Given the description of an element on the screen output the (x, y) to click on. 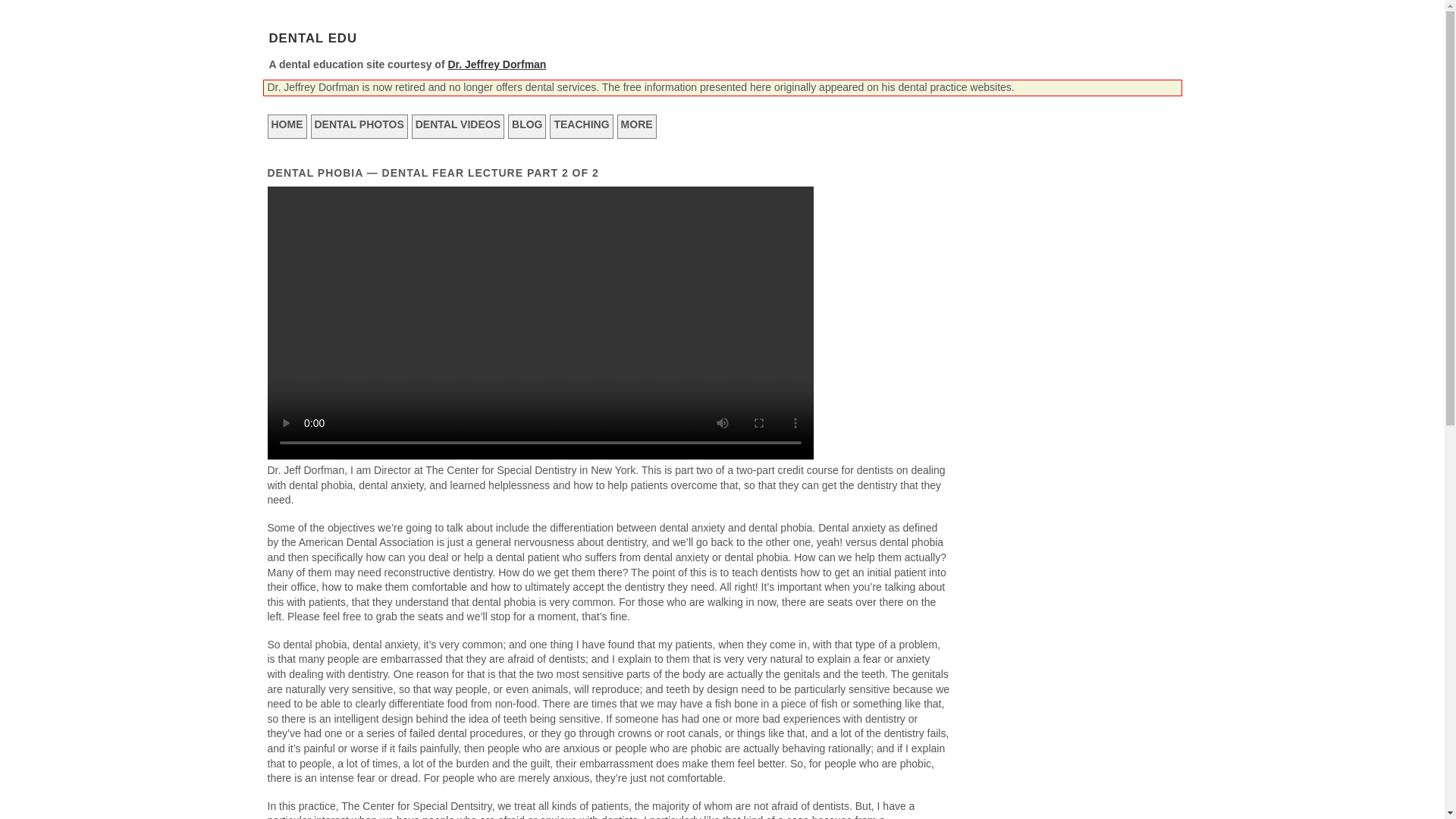
HOME (285, 126)
BLOG (527, 126)
TEACHING (581, 126)
MORE (636, 126)
DENTAL VIDEOS (457, 126)
DENTAL EDU (311, 38)
DENTAL PHOTOS (359, 126)
Dr. Jeffrey Dorfman (496, 64)
